Given the description of an element on the screen output the (x, y) to click on. 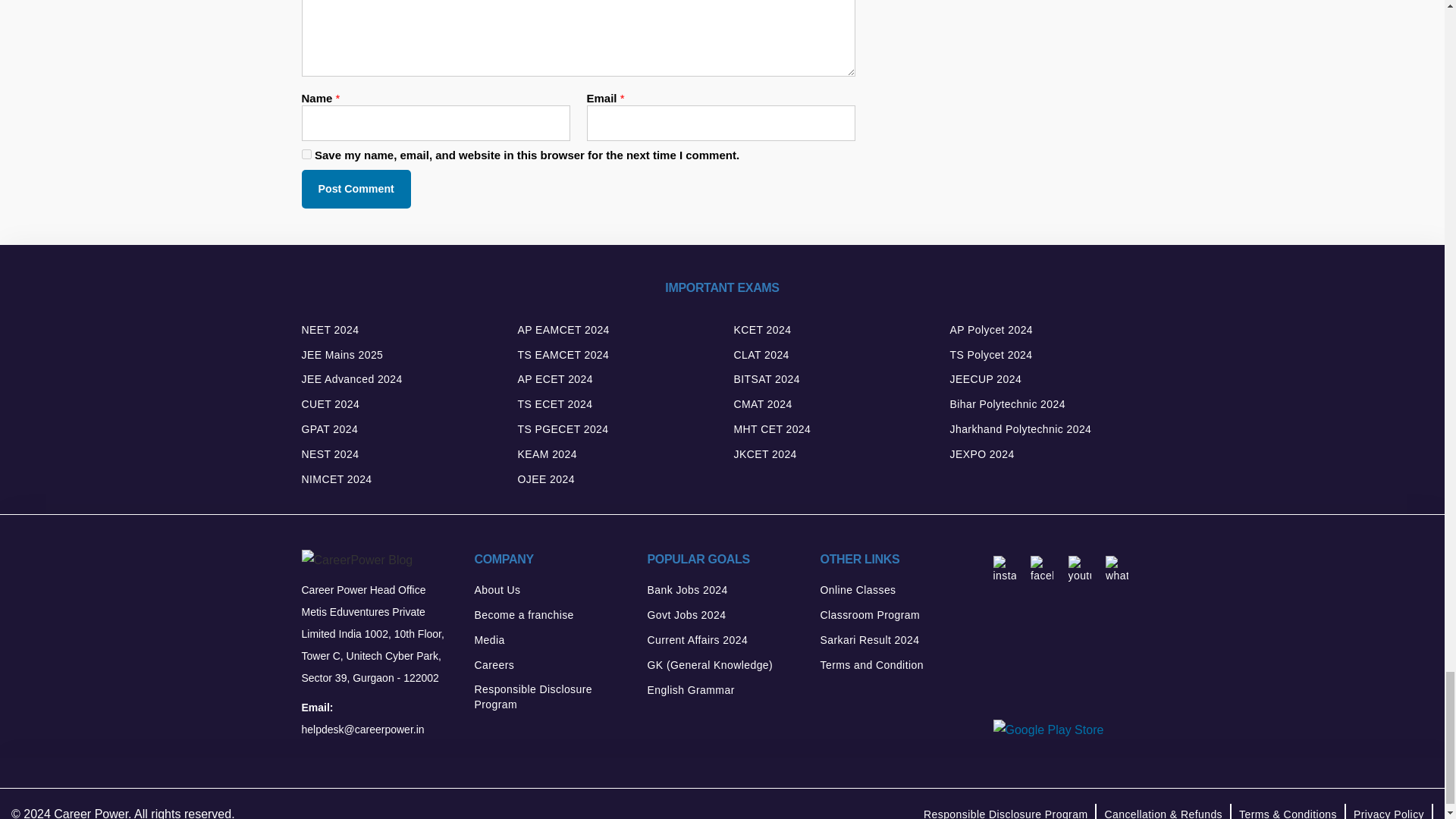
Post Comment (355, 188)
yes (306, 153)
